Given the description of an element on the screen output the (x, y) to click on. 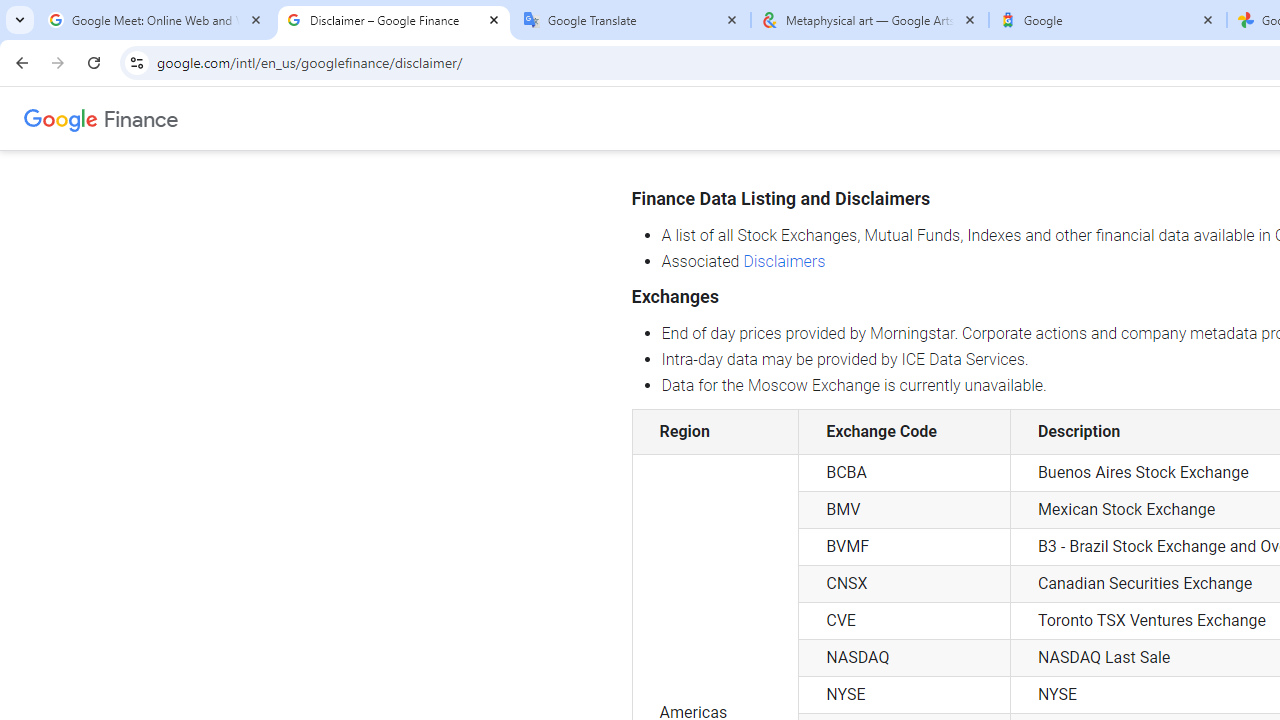
NYSE (904, 695)
BVMF (904, 546)
Disclaimers (783, 260)
